Given the description of an element on the screen output the (x, y) to click on. 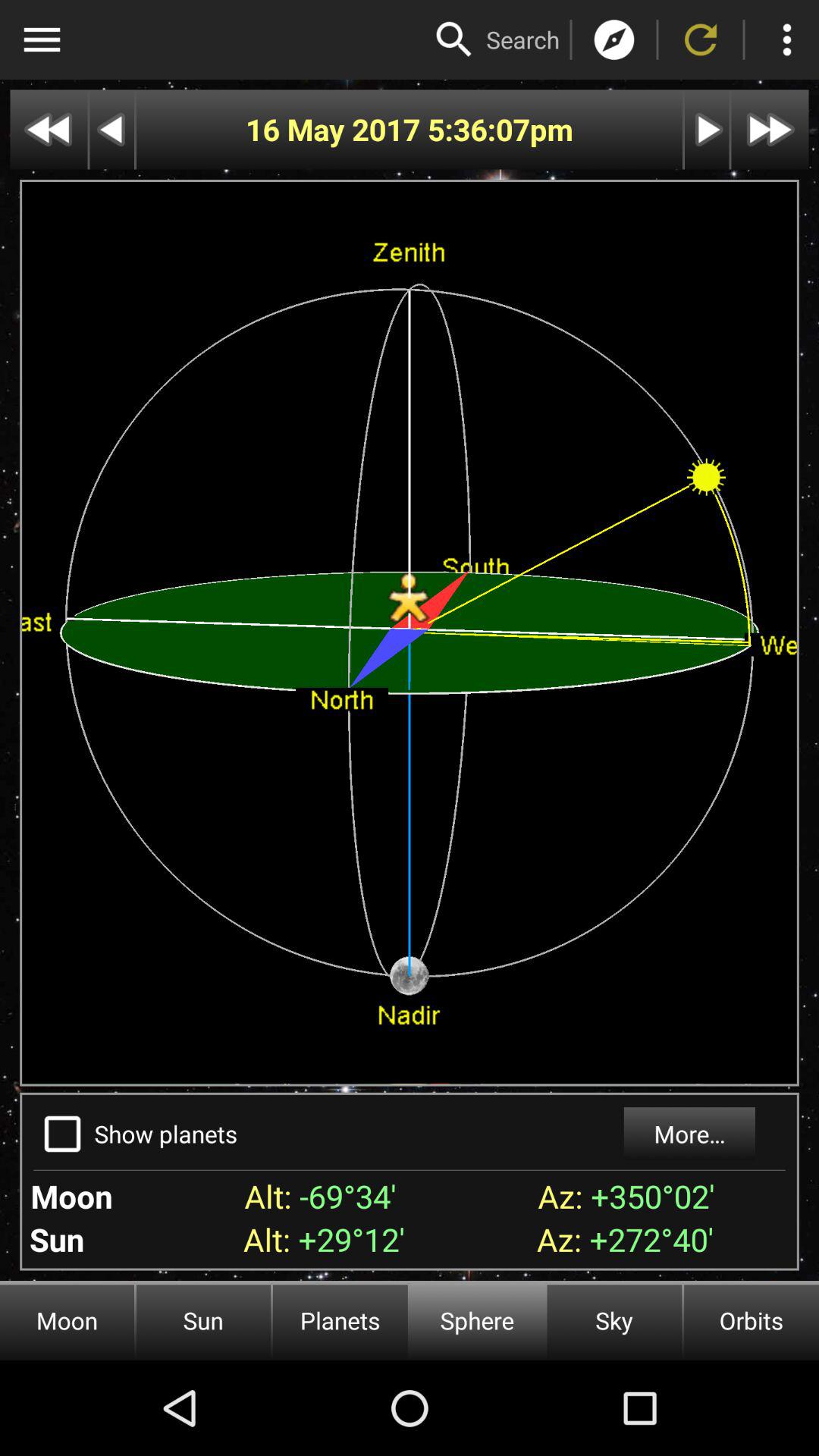
go to the next page (769, 129)
